Given the description of an element on the screen output the (x, y) to click on. 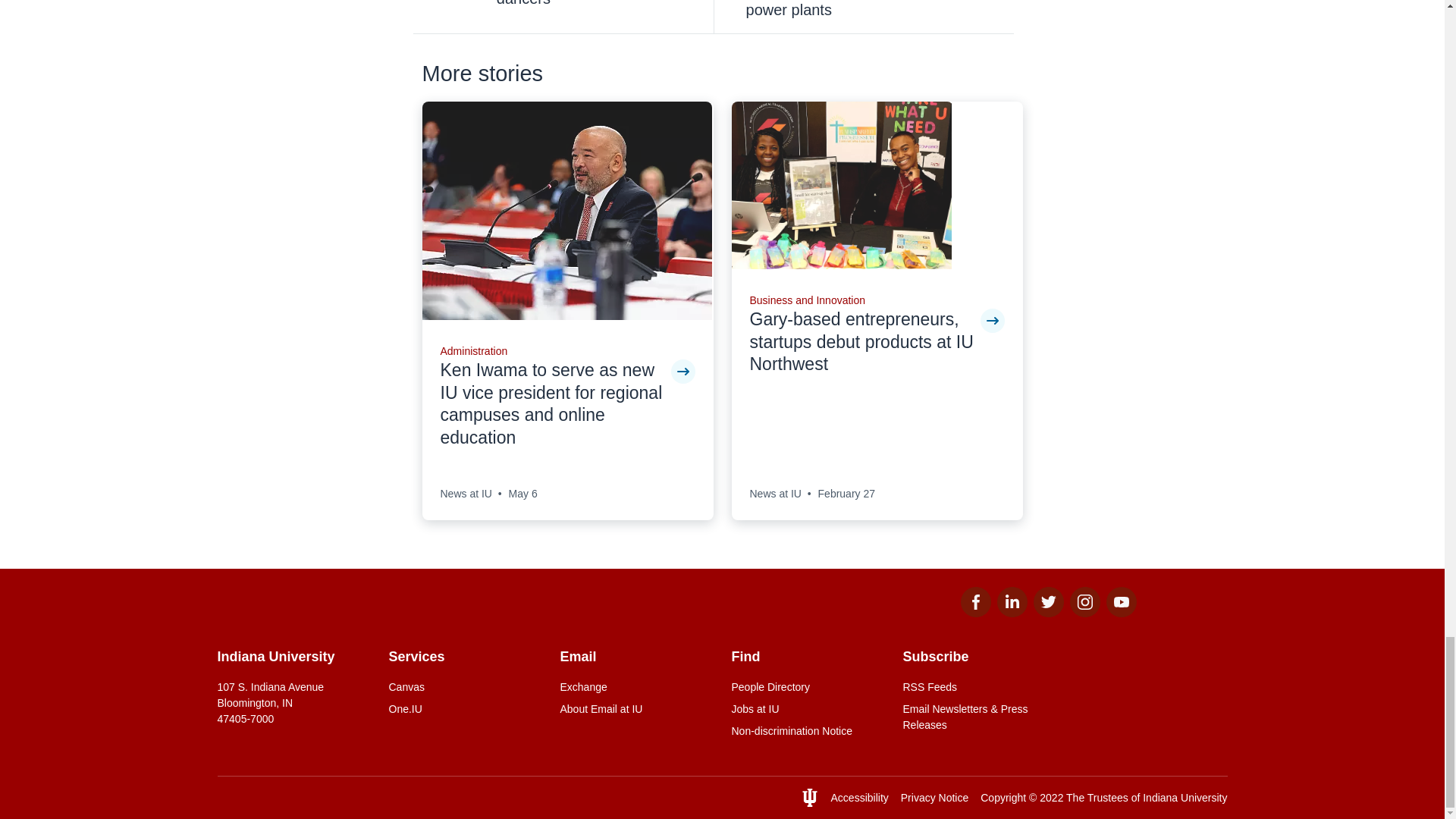
Instagram for IU (1083, 612)
Facebook for IU (974, 612)
Linkedin for IU (1010, 612)
Twitter for IU (1047, 612)
